Given the description of an element on the screen output the (x, y) to click on. 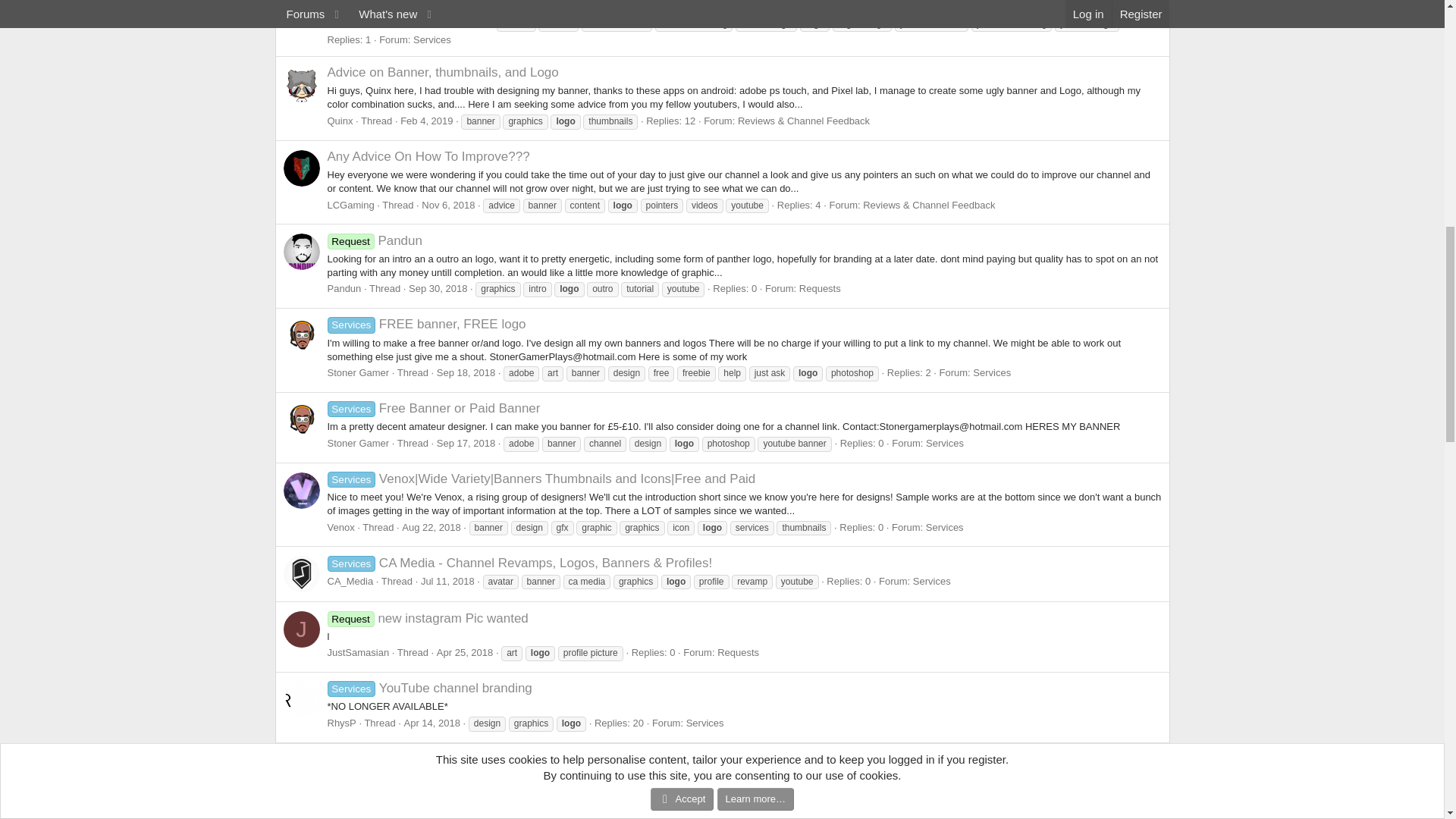
Apr 14, 2018 at 7:21 PM (431, 722)
Sep 17, 2018 at 10:43 AM (465, 442)
Feb 4, 2019 at 2:00 PM (426, 120)
Sep 30, 2018 at 12:38 PM (438, 288)
Apr 25, 2018 at 2:55 AM (464, 652)
Jul 11, 2018 at 3:35 AM (447, 581)
Nov 6, 2018 at 7:24 PM (448, 204)
Jun 27, 2019 at 1:12 PM (458, 22)
Aug 22, 2018 at 1:37 AM (430, 527)
Apr 10, 2018 at 11:22 AM (443, 806)
